Given the description of an element on the screen output the (x, y) to click on. 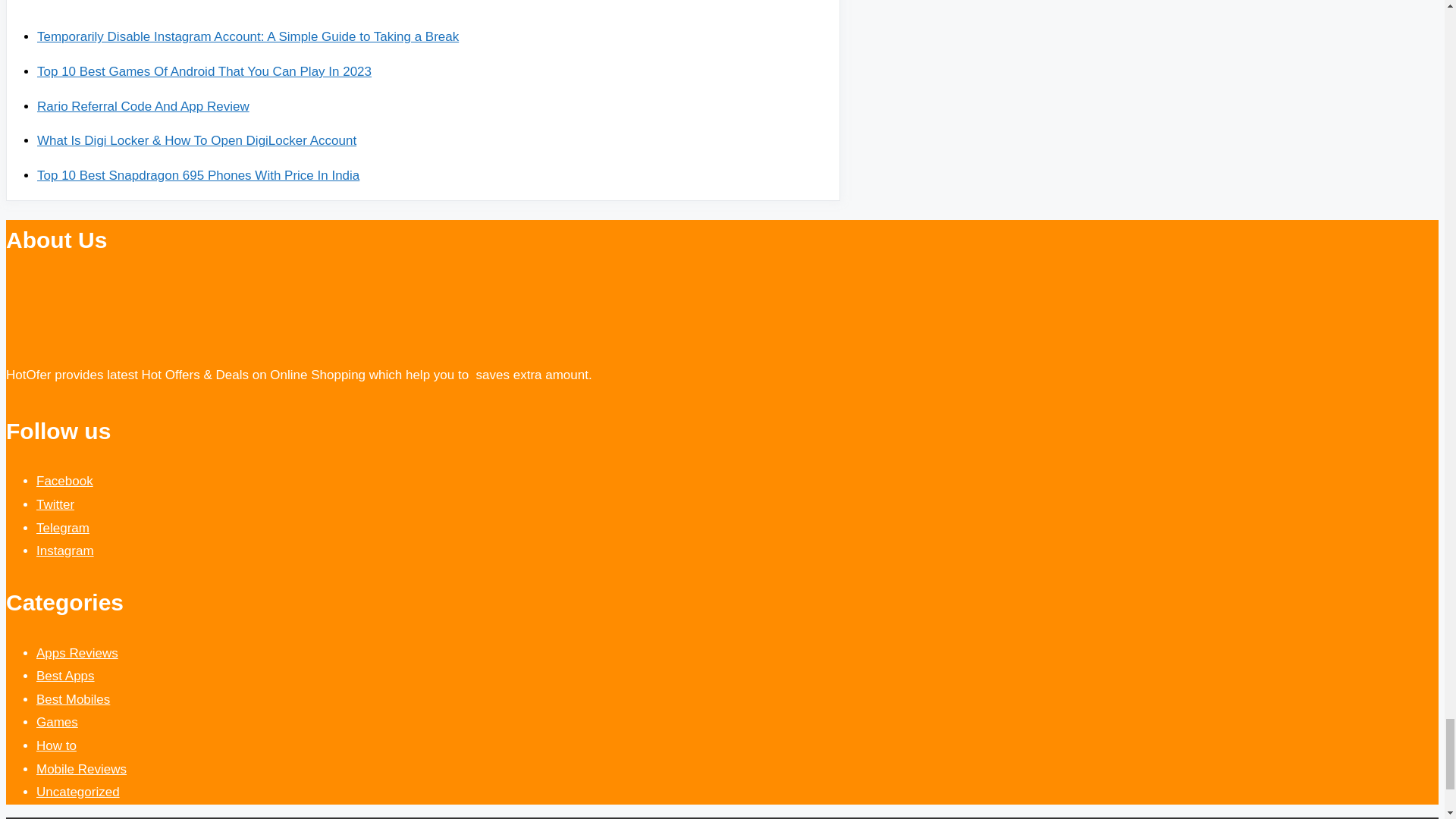
Best Apps (65, 676)
Best Mobiles (73, 699)
Mobile Reviews (81, 769)
Facebook (64, 481)
Games (57, 721)
Top 10 Best Games Of Android That You Can Play In 2023 (204, 71)
Apps Reviews (76, 653)
Rario Referral Code And App Review (142, 106)
Instagram (65, 550)
